Given the description of an element on the screen output the (x, y) to click on. 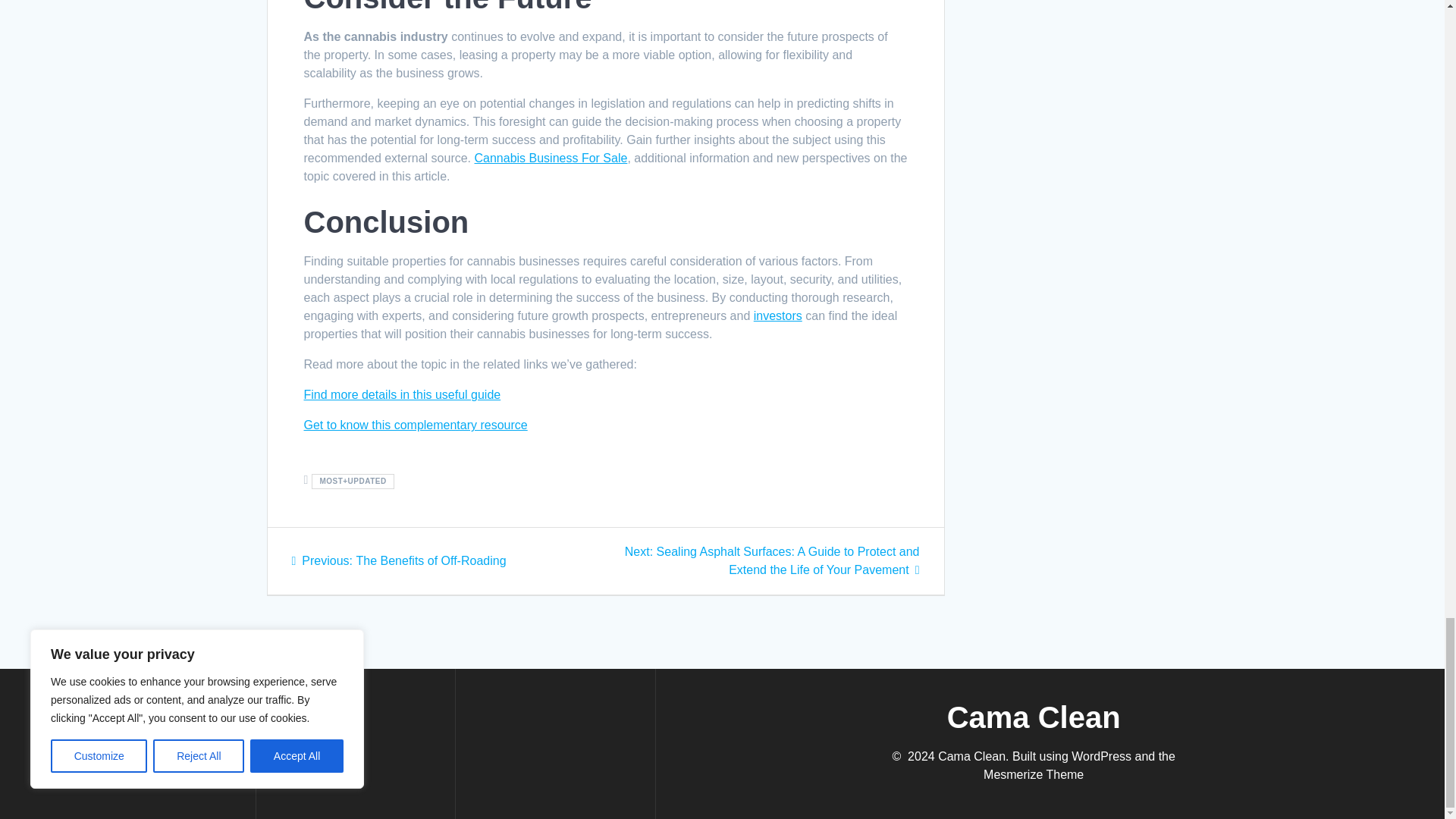
Get to know this complementary resource (414, 424)
Find more details in this useful guide (401, 394)
Cannabis Business For Sale (398, 560)
investors (550, 157)
